Given the description of an element on the screen output the (x, y) to click on. 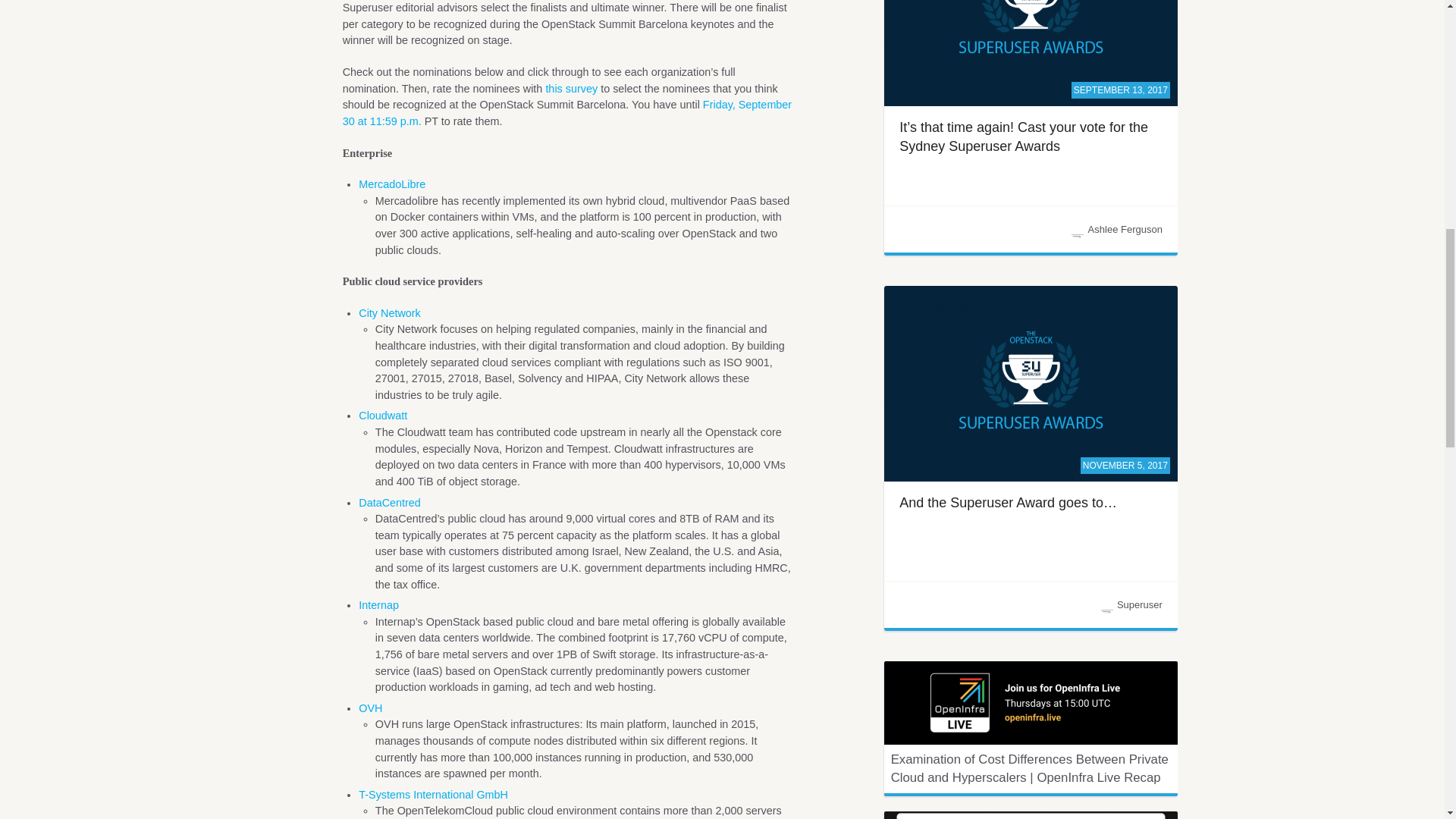
Cloudwatt (382, 415)
Friday, September 30 at 11:59 p.m. (567, 112)
Internap (378, 604)
DataCentred (389, 501)
City Network (389, 313)
this survey (570, 88)
MercadoLibre (391, 184)
OVH (369, 707)
T-Systems International GmbH (433, 794)
